Given the description of an element on the screen output the (x, y) to click on. 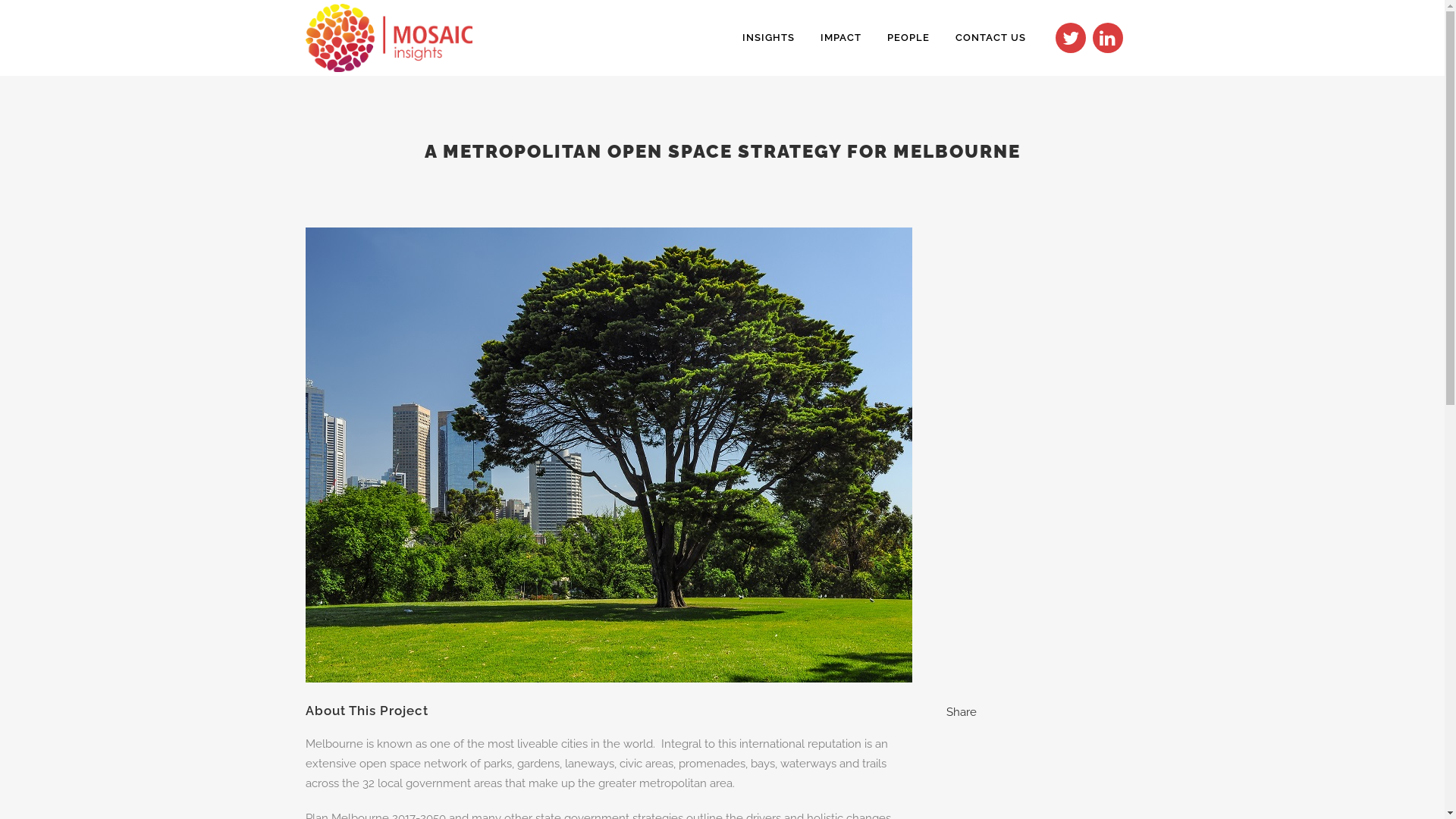
CONTACT US Element type: text (990, 37)
Share Element type: text (961, 711)
PEOPLE Element type: text (908, 37)
MelbournePark_800x600 Element type: hover (607, 692)
INSIGHTS Element type: text (768, 37)
IMPACT Element type: text (840, 37)
